Given the description of an element on the screen output the (x, y) to click on. 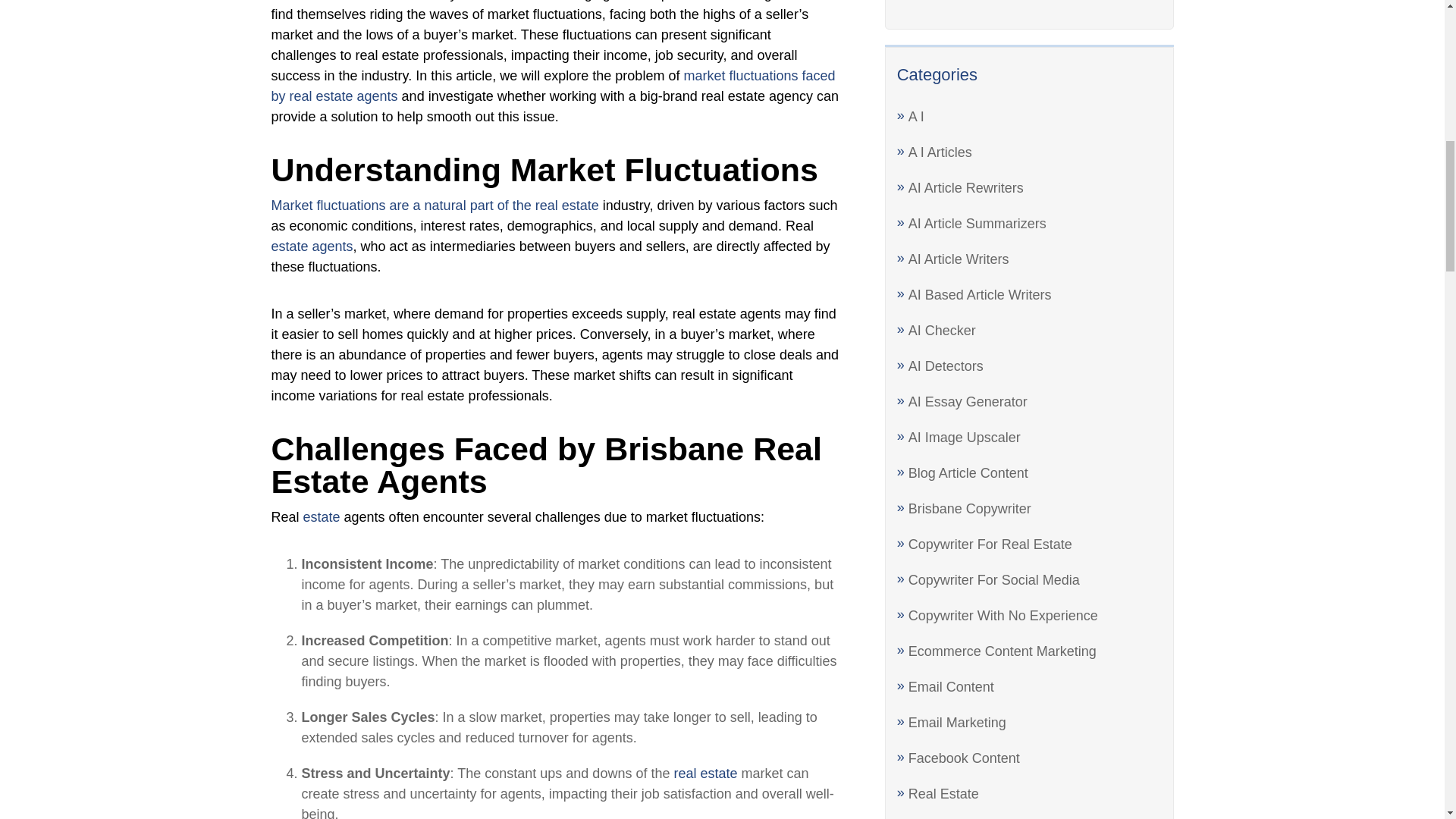
A I Articles (940, 151)
estate (321, 516)
market fluctuations faced by real estate agents (552, 85)
Market fluctuations are a natural part of the real estate (434, 205)
estate agents (311, 246)
real estate (704, 773)
A I (916, 116)
